Given the description of an element on the screen output the (x, y) to click on. 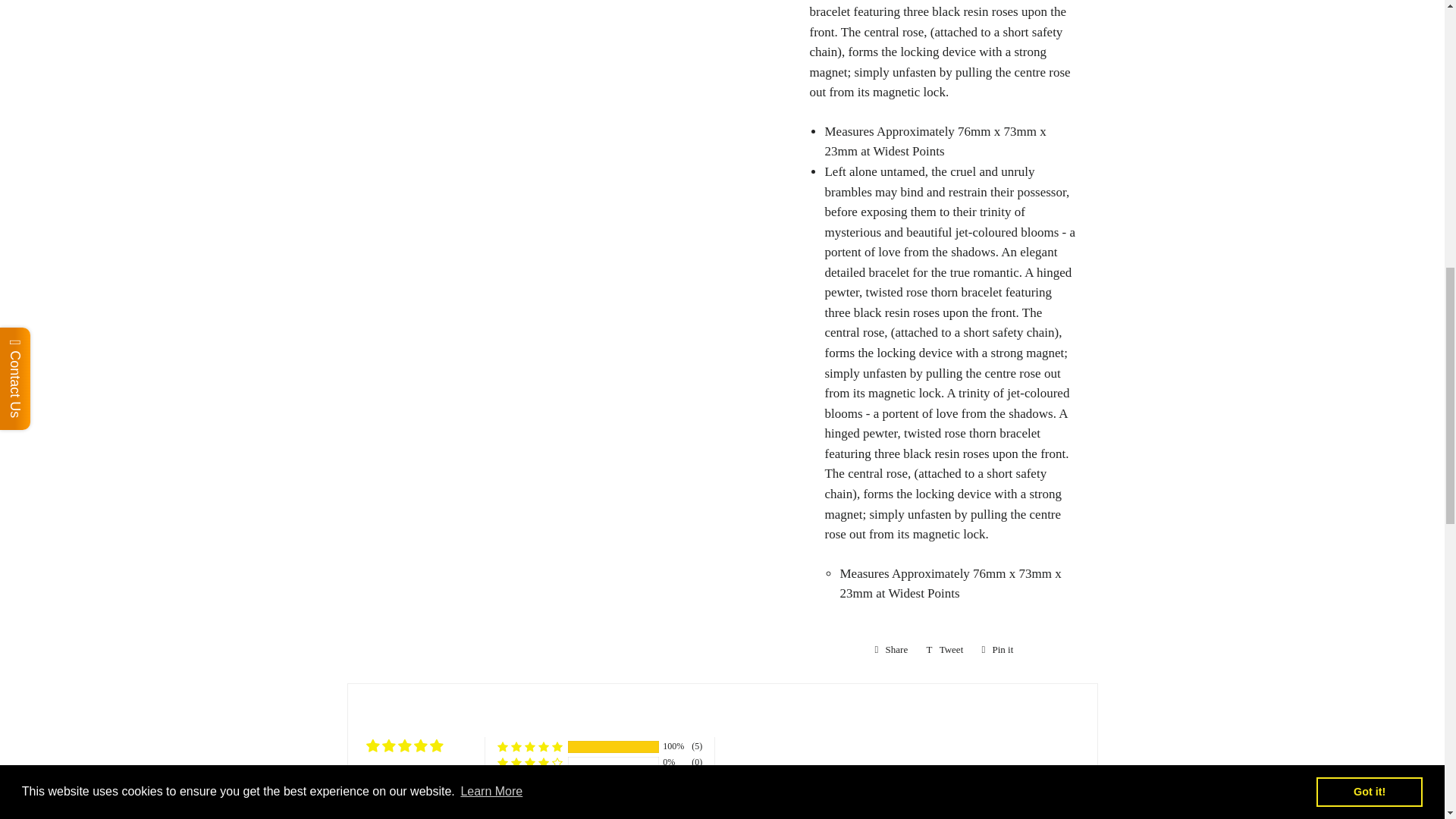
Share on Facebook (891, 649)
Tweet on Twitter (944, 649)
Pin on Pinterest (997, 649)
